Given the description of an element on the screen output the (x, y) to click on. 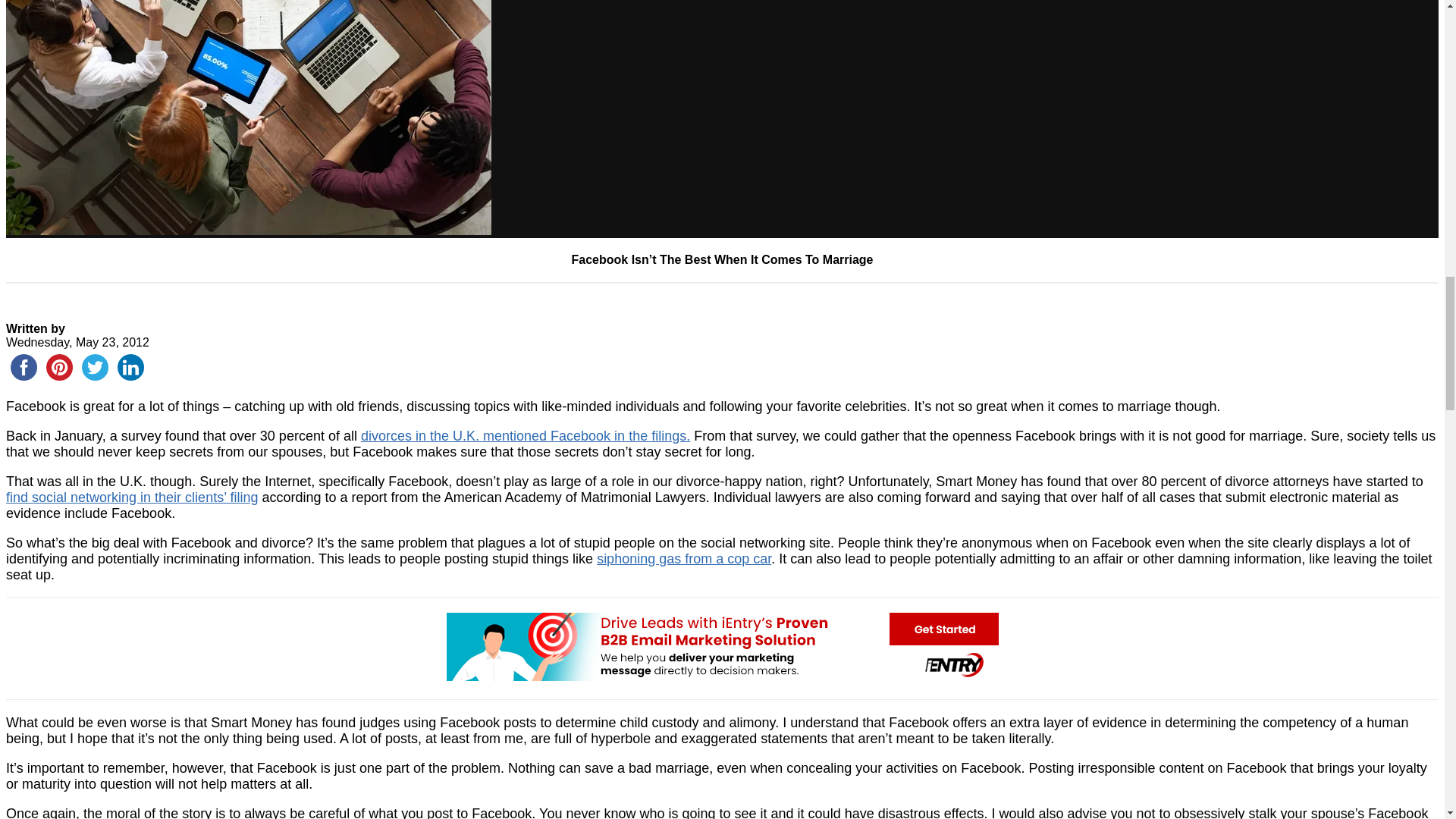
linkedin (130, 366)
pinterest (59, 366)
facebook (23, 366)
twitter (95, 366)
